Given the description of an element on the screen output the (x, y) to click on. 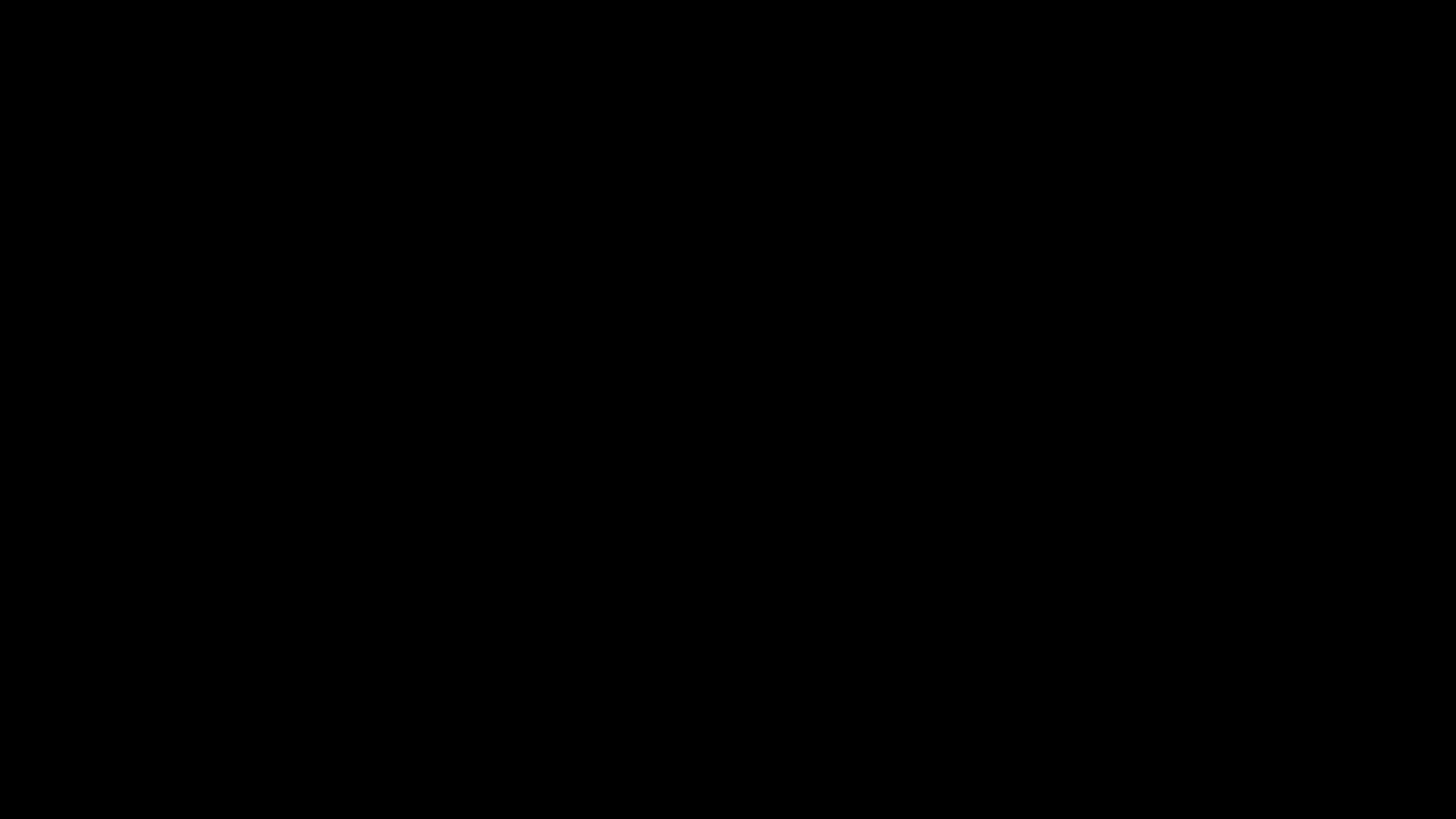
SEND MESSAGE Element type: text (82, 205)
LOG IN Element type: text (1427, 42)
GO Element type: text (56, 407)
Contact Element type: text (1428, 26)
About Element type: text (1386, 26)
